Given the description of an element on the screen output the (x, y) to click on. 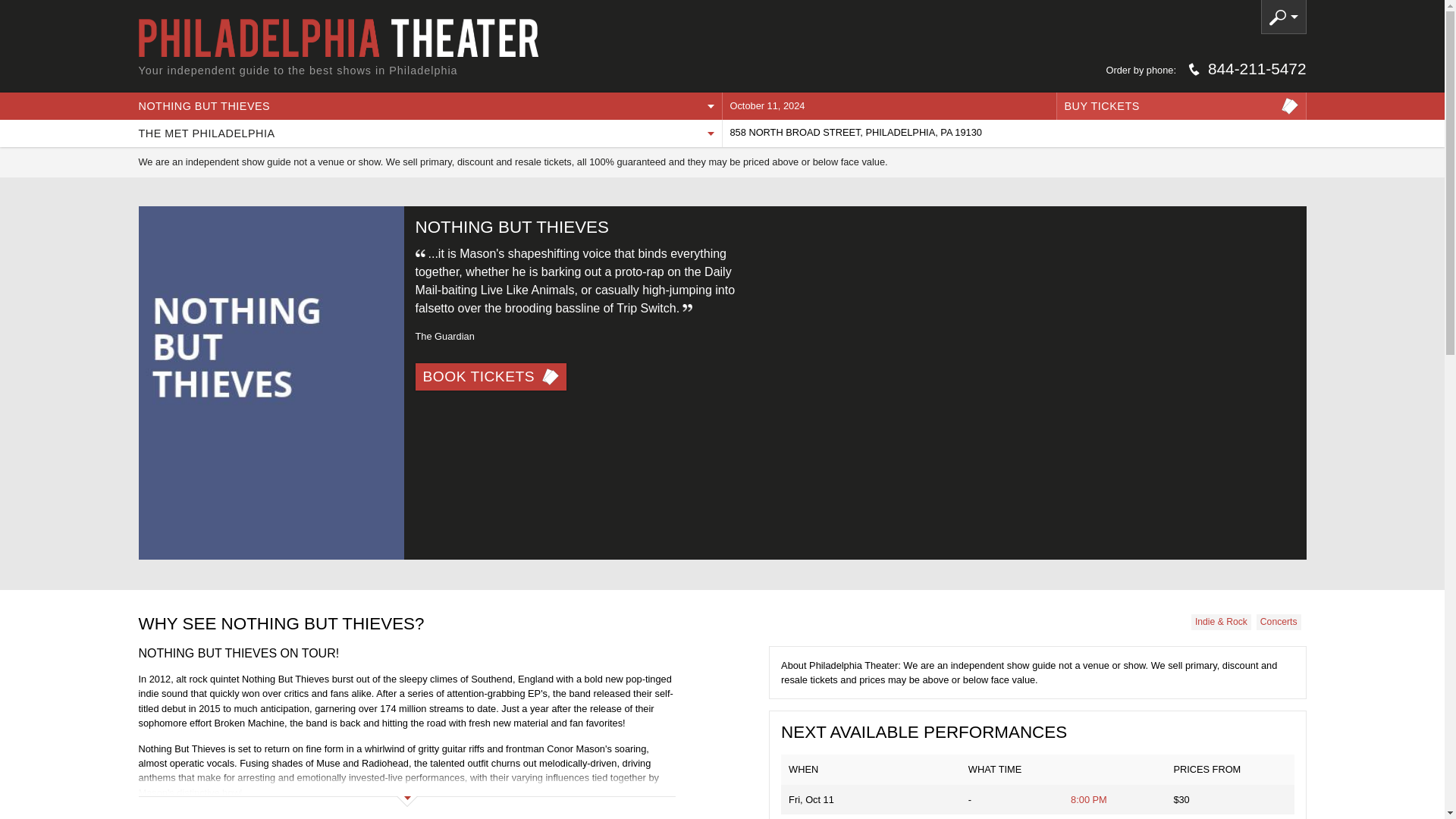
BUY TICKETS (1180, 105)
NOTHING BUT THIEVES (429, 105)
THE MET PHILADELPHIA (429, 133)
Philadelphia Theater (337, 37)
